Given the description of an element on the screen output the (x, y) to click on. 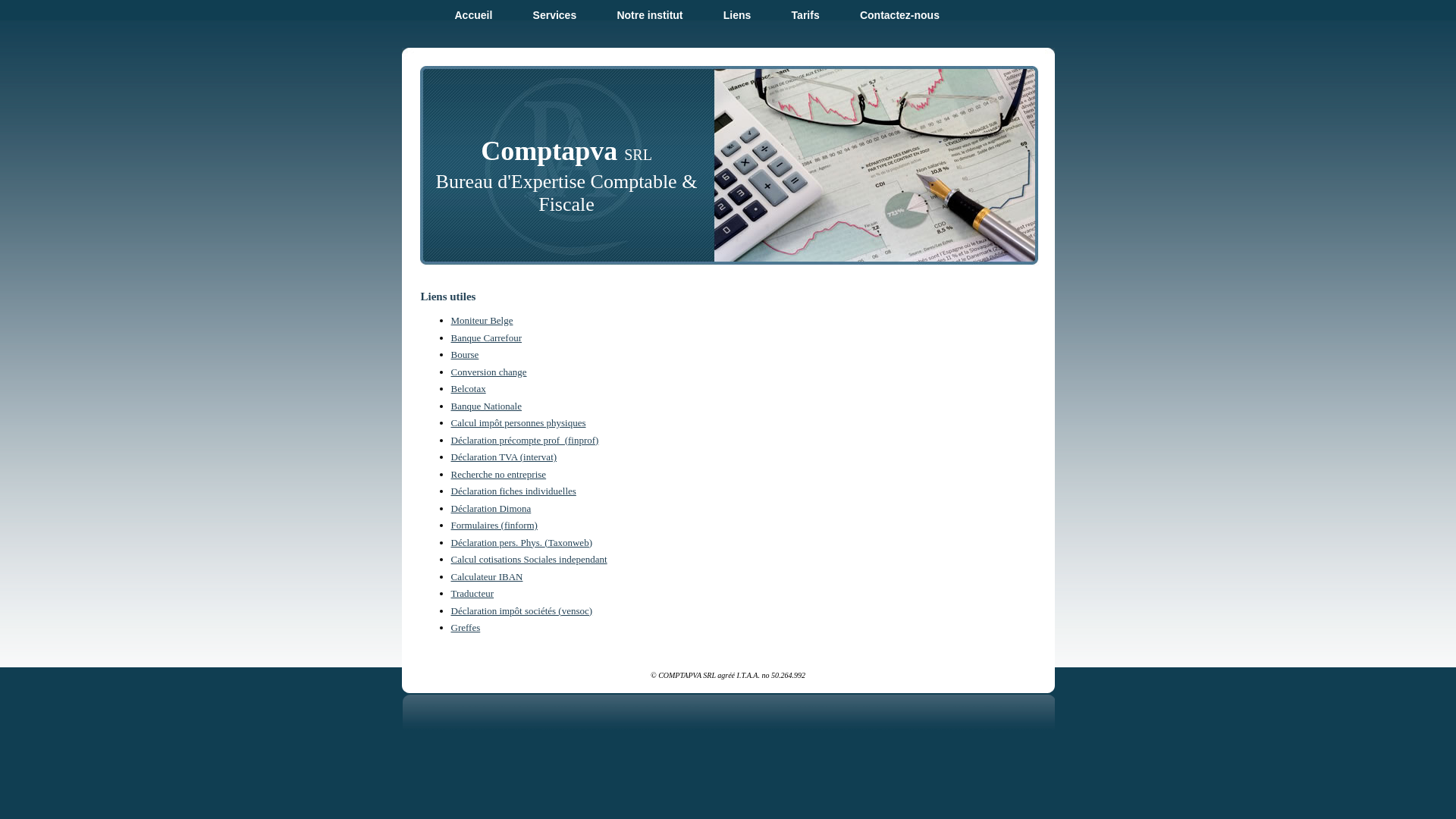
Notre institut Element type: text (649, 15)
Moniteur Belge Element type: text (481, 320)
Banque Carrefour Element type: text (485, 337)
Tarifs Element type: text (805, 15)
Traducteur Element type: text (471, 593)
Contactez-nous Element type: text (899, 15)
Greffes Element type: text (465, 627)
Accueil Element type: text (473, 15)
Services Element type: text (554, 15)
Banque Nationale Element type: text (485, 405)
Recherche no entreprise Element type: text (498, 474)
Liens Element type: text (737, 15)
Calculateur IBAN Element type: text (486, 575)
Conversion change Element type: text (488, 370)
Belcotax Element type: text (467, 388)
Formulaires (finform) Element type: text (493, 524)
Calcul cotisations Sociales independant Element type: text (528, 558)
Bourse Element type: text (464, 354)
